Given the description of an element on the screen output the (x, y) to click on. 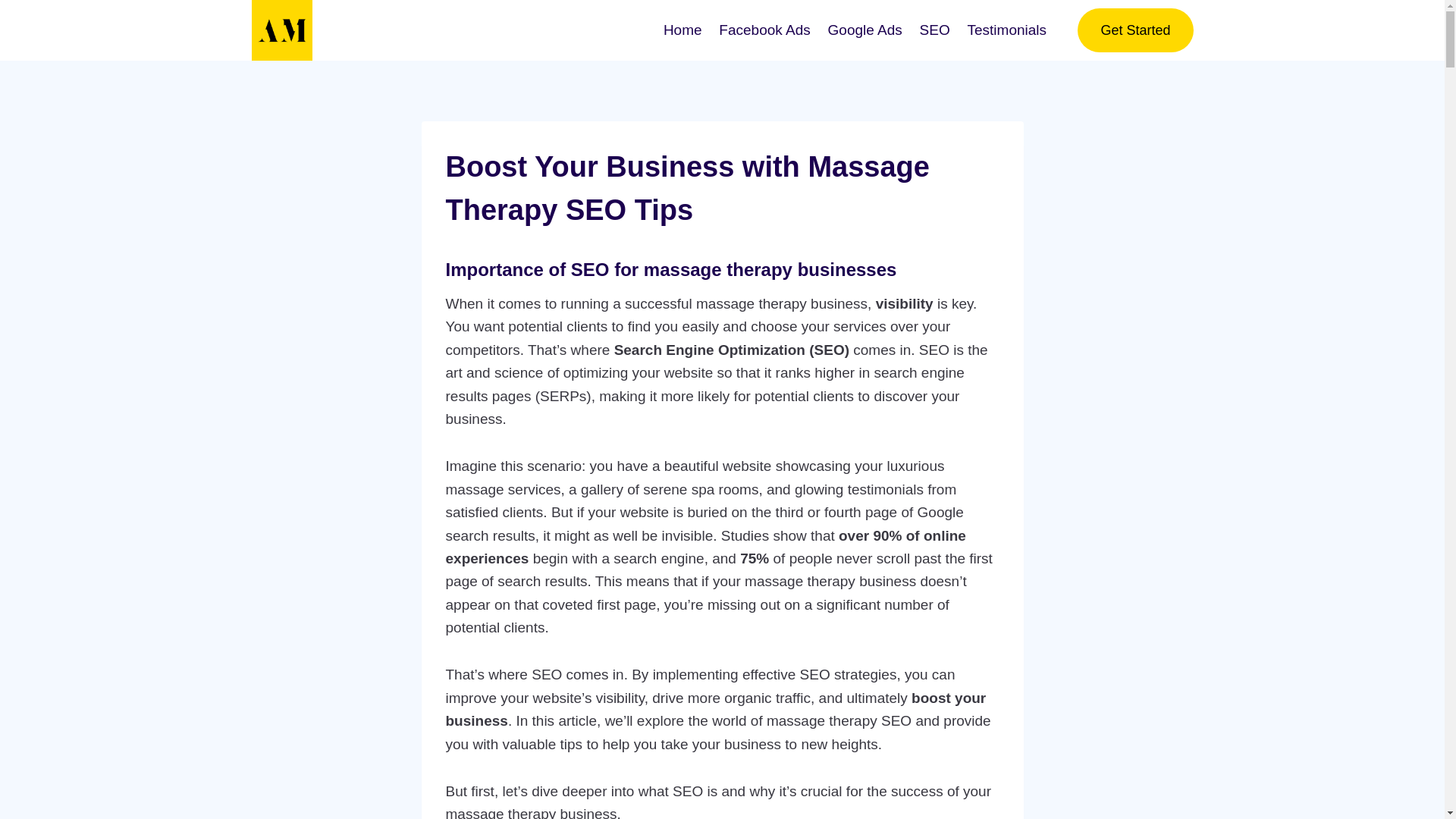
Facebook Ads (764, 29)
Testimonials (1006, 29)
Get Started (1134, 30)
Google Ads (864, 29)
Home (682, 29)
SEO (934, 29)
